Given the description of an element on the screen output the (x, y) to click on. 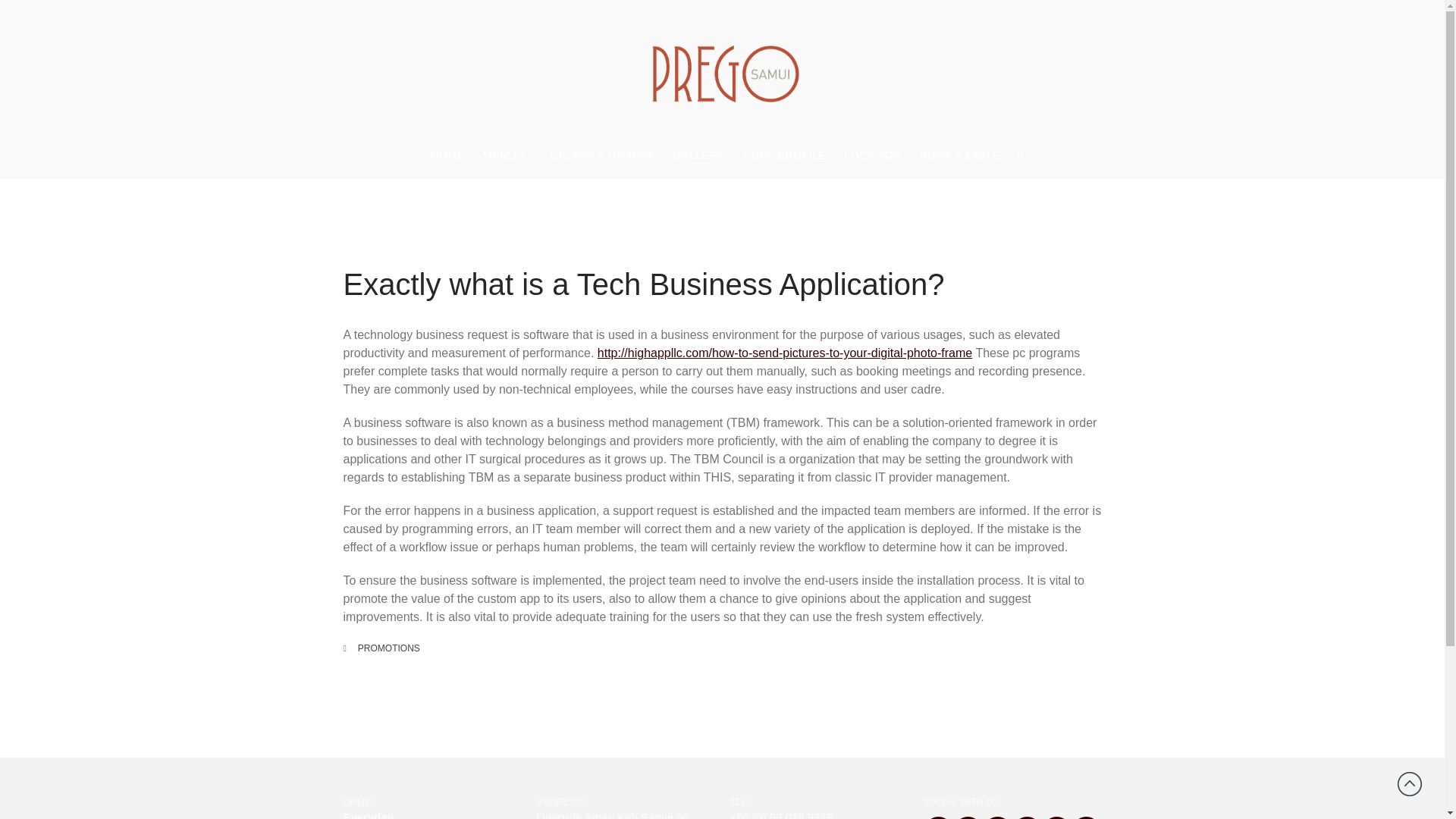
HOME (447, 155)
MENUS (508, 155)
CHEF PROFILE (783, 155)
BOOK A TABLE (959, 155)
View all posts in PROMOTIONS (389, 647)
Search (1356, 487)
GALLERY (698, 155)
Prego Samui (686, 142)
LOCATION (871, 155)
